Given the description of an element on the screen output the (x, y) to click on. 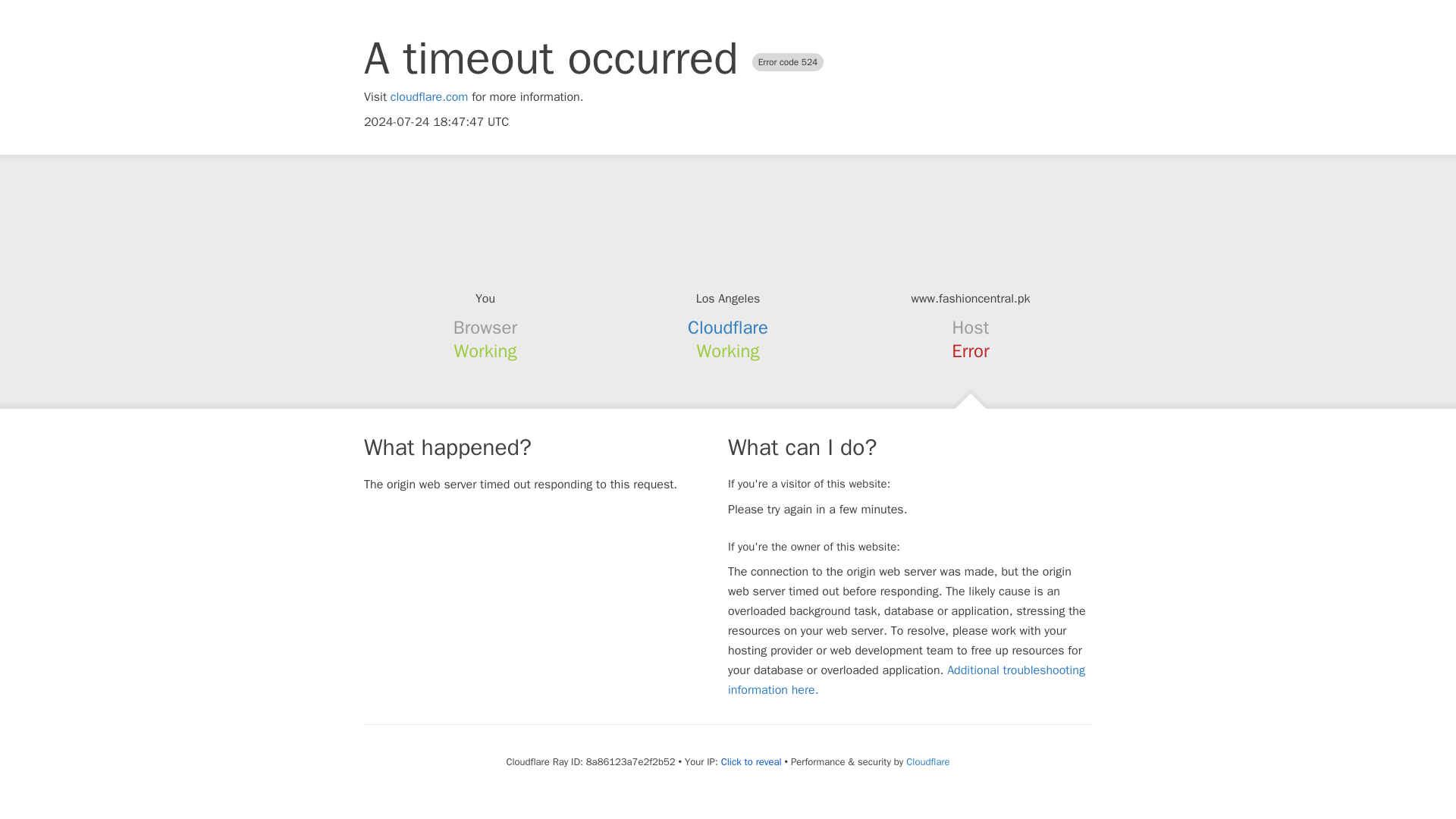
Cloudflare (727, 327)
cloudflare.com (429, 96)
Click to reveal (750, 762)
Cloudflare (927, 761)
Additional troubleshooting information here. (906, 679)
